Given the description of an element on the screen output the (x, y) to click on. 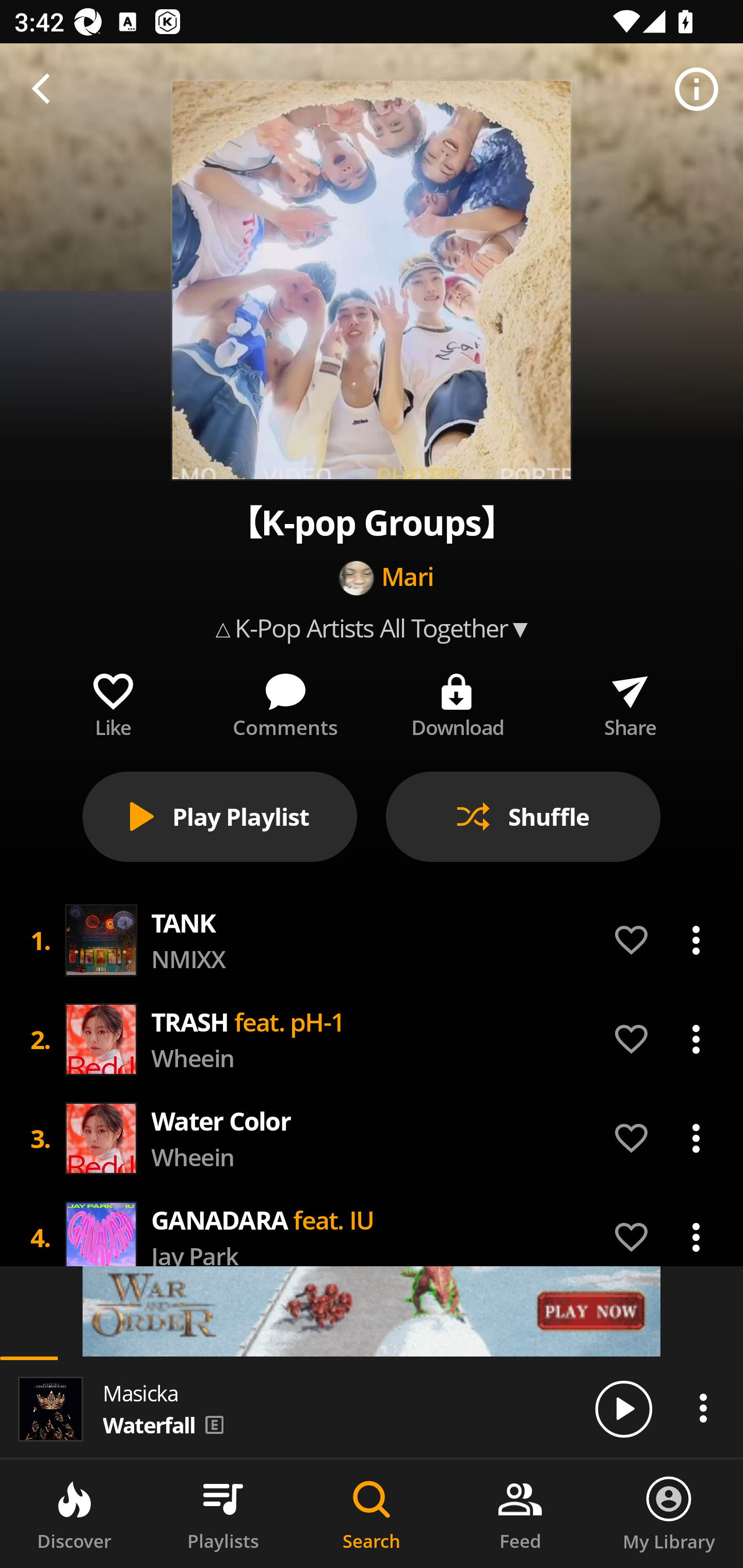
Close (46, 89)
Music info (696, 89)
Mari (407, 577)
Like (112, 701)
Comment Comments Comment (285, 701)
Download (457, 701)
Share (629, 701)
Play Playlist (219, 816)
Shuffle (522, 816)
1. Song artwork TANK NMIXX Actions (371, 939)
Actions (695, 939)
2. Song artwork TRASH feat. pH-1 Wheein Actions (371, 1038)
Actions (695, 1039)
3. Song artwork Water Color Wheein Actions (371, 1138)
Actions (695, 1138)
4. Song artwork GANADARA feat. IU Jay Park Actions (371, 1237)
Actions (695, 1237)
693bd9dd9fb6f0f52224 (371, 1311)
Actions (703, 1407)
Play/Pause (623, 1408)
Discover (74, 1513)
Playlists (222, 1513)
Search (371, 1513)
Feed (519, 1513)
My Library (668, 1513)
